Given the description of an element on the screen output the (x, y) to click on. 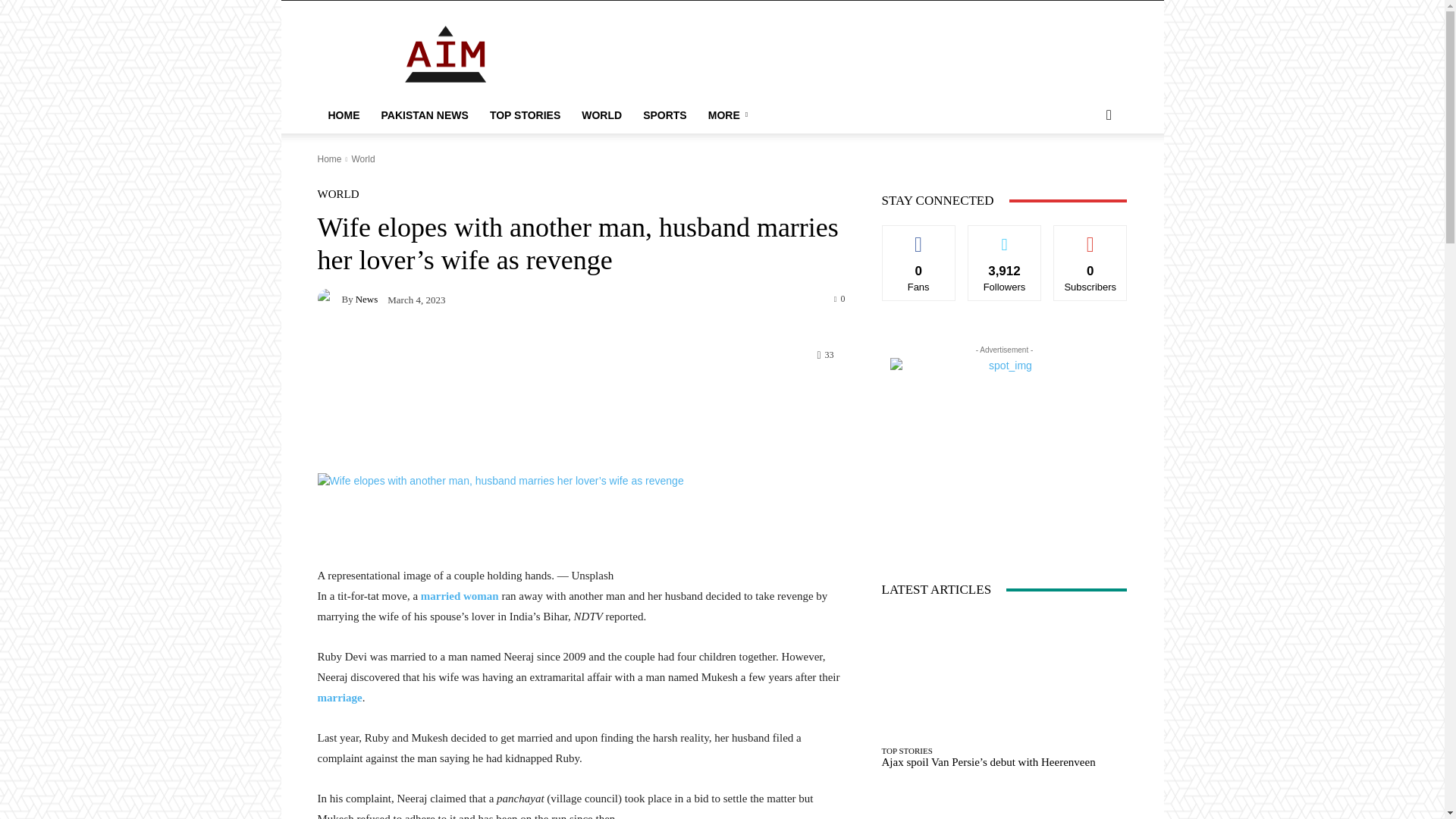
marriage (339, 697)
married woman (459, 595)
PAKISTAN NEWS (424, 115)
World (362, 158)
Search (1085, 175)
SPORTS (664, 115)
MORE (729, 115)
WORLD (600, 115)
News (328, 298)
WORLD (337, 194)
